Given the description of an element on the screen output the (x, y) to click on. 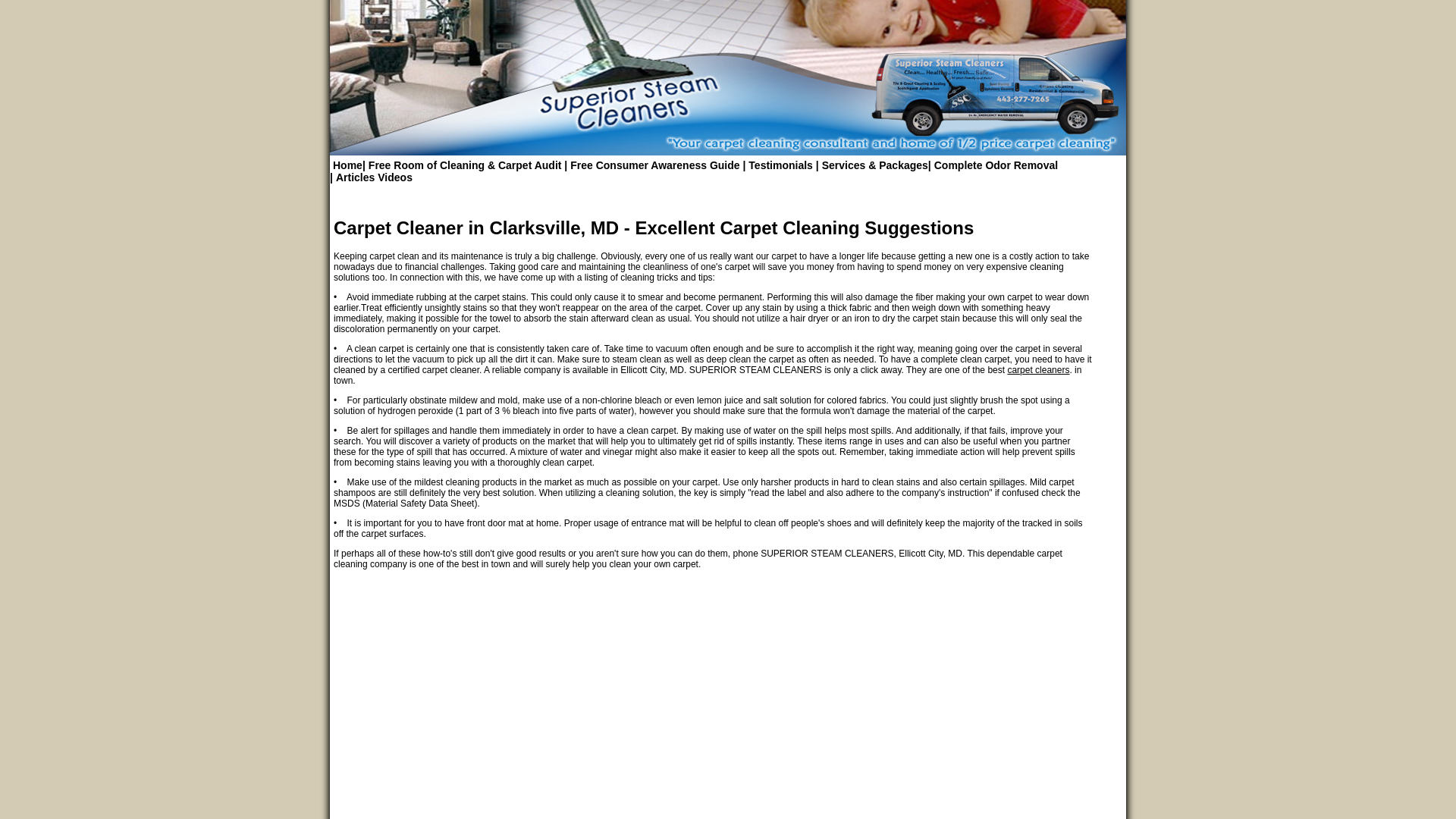
Videos (393, 177)
carpet cleaners (1037, 369)
Articles (353, 177)
